Given the description of an element on the screen output the (x, y) to click on. 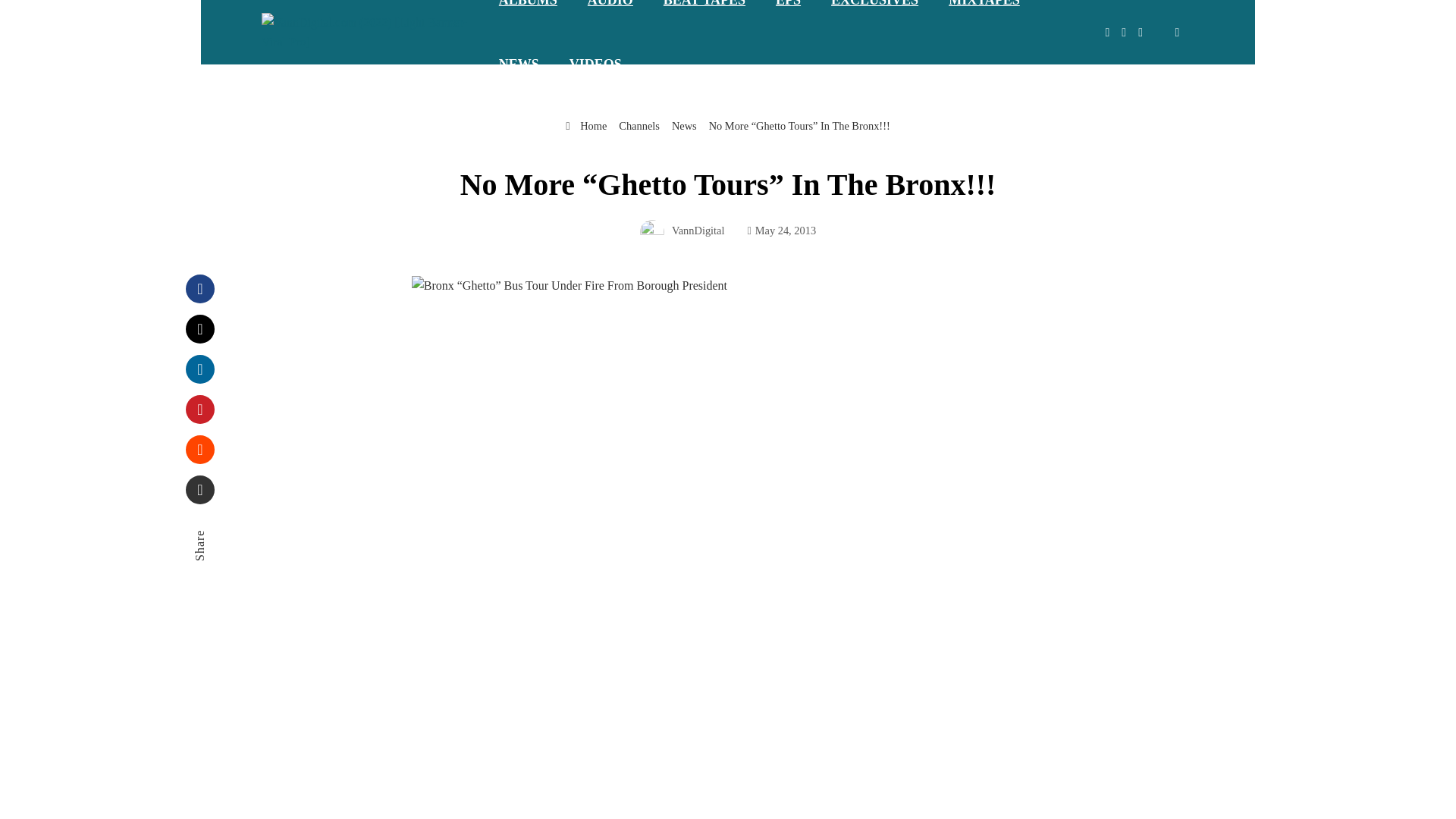
EXCLUSIVES (874, 16)
NEWS (518, 63)
Stumbleupon (200, 449)
EPS (787, 16)
Facebook (200, 288)
Home (586, 125)
BEAT TAPES (703, 16)
No More "Ghetto Tours" In The Bronx!!! (569, 285)
Channels (638, 125)
LinkedIn (200, 369)
